Given the description of an element on the screen output the (x, y) to click on. 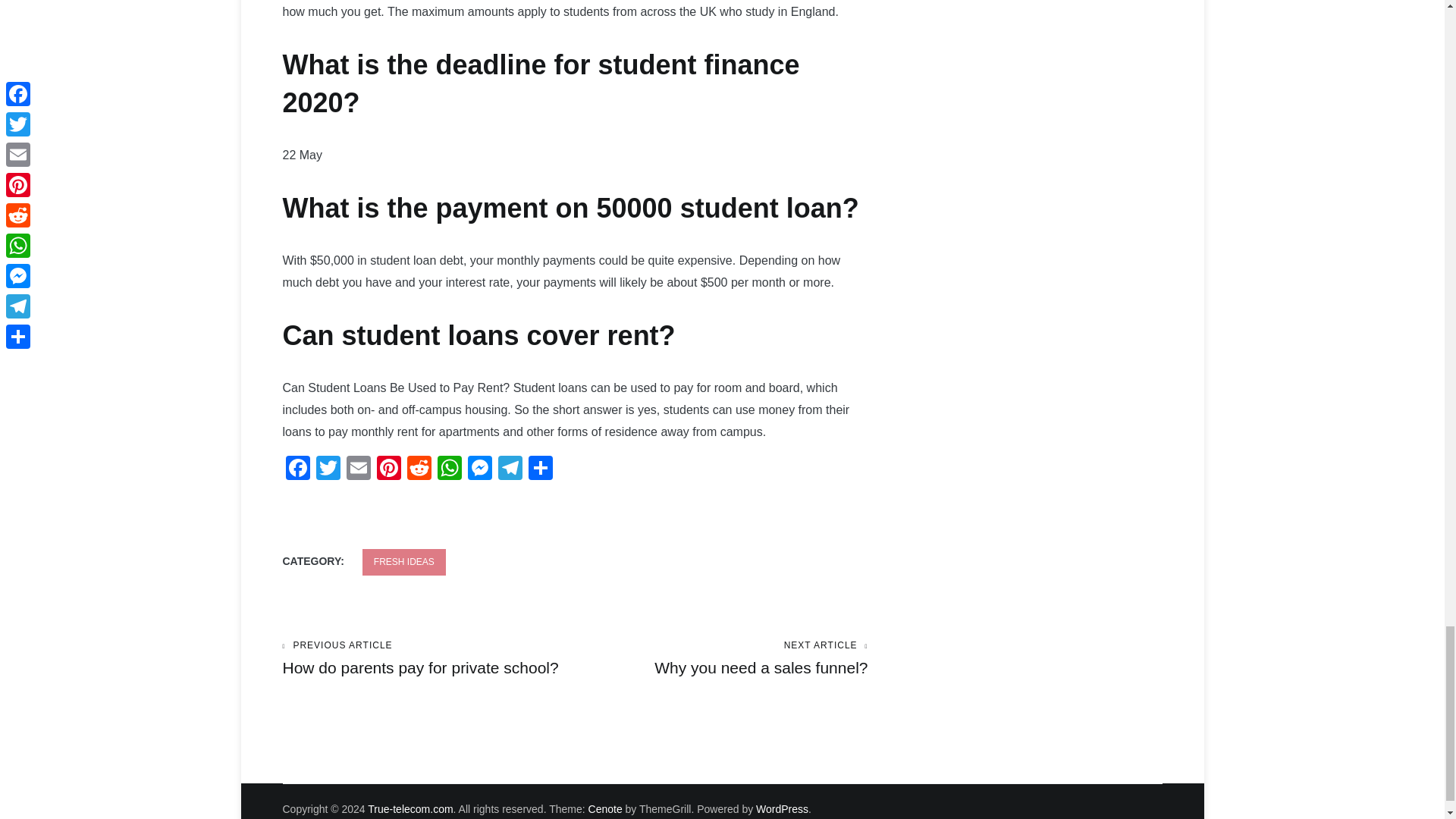
Email (357, 469)
Twitter (327, 469)
Messenger (479, 469)
Facebook (297, 469)
Facebook (297, 469)
Twitter (327, 469)
WhatsApp (448, 469)
Reddit (418, 469)
Pinterest (387, 469)
Reddit (418, 469)
Email (357, 469)
Pinterest (387, 469)
